Given the description of an element on the screen output the (x, y) to click on. 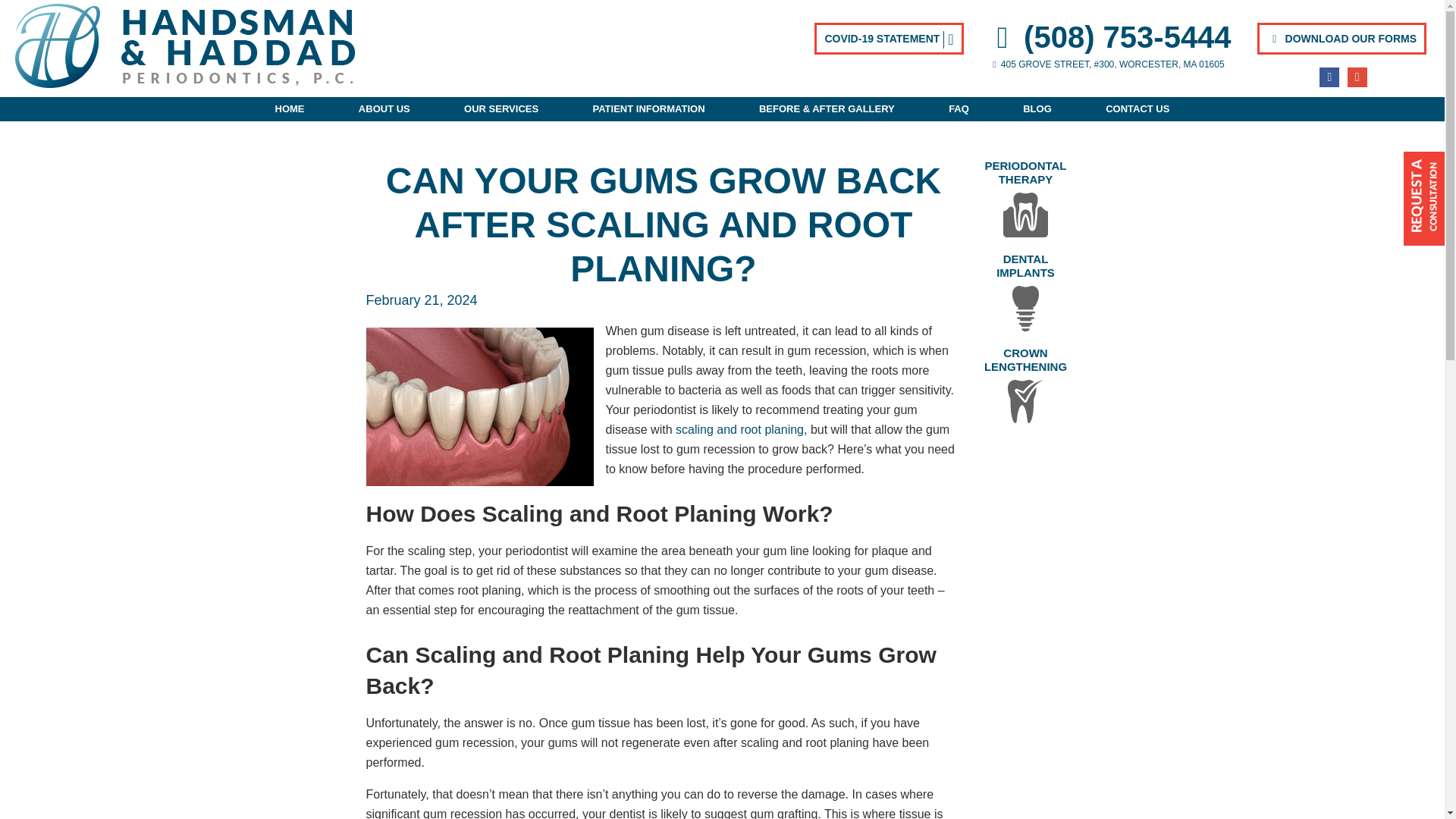
ABOUT US (383, 109)
DOWNLOAD OUR FORMS (1341, 38)
COVID-19 STATEMENT (887, 38)
HOME (288, 109)
PATIENT INFORMATION (648, 109)
FAQ (958, 109)
OUR SERVICES (501, 109)
